Given the description of an element on the screen output the (x, y) to click on. 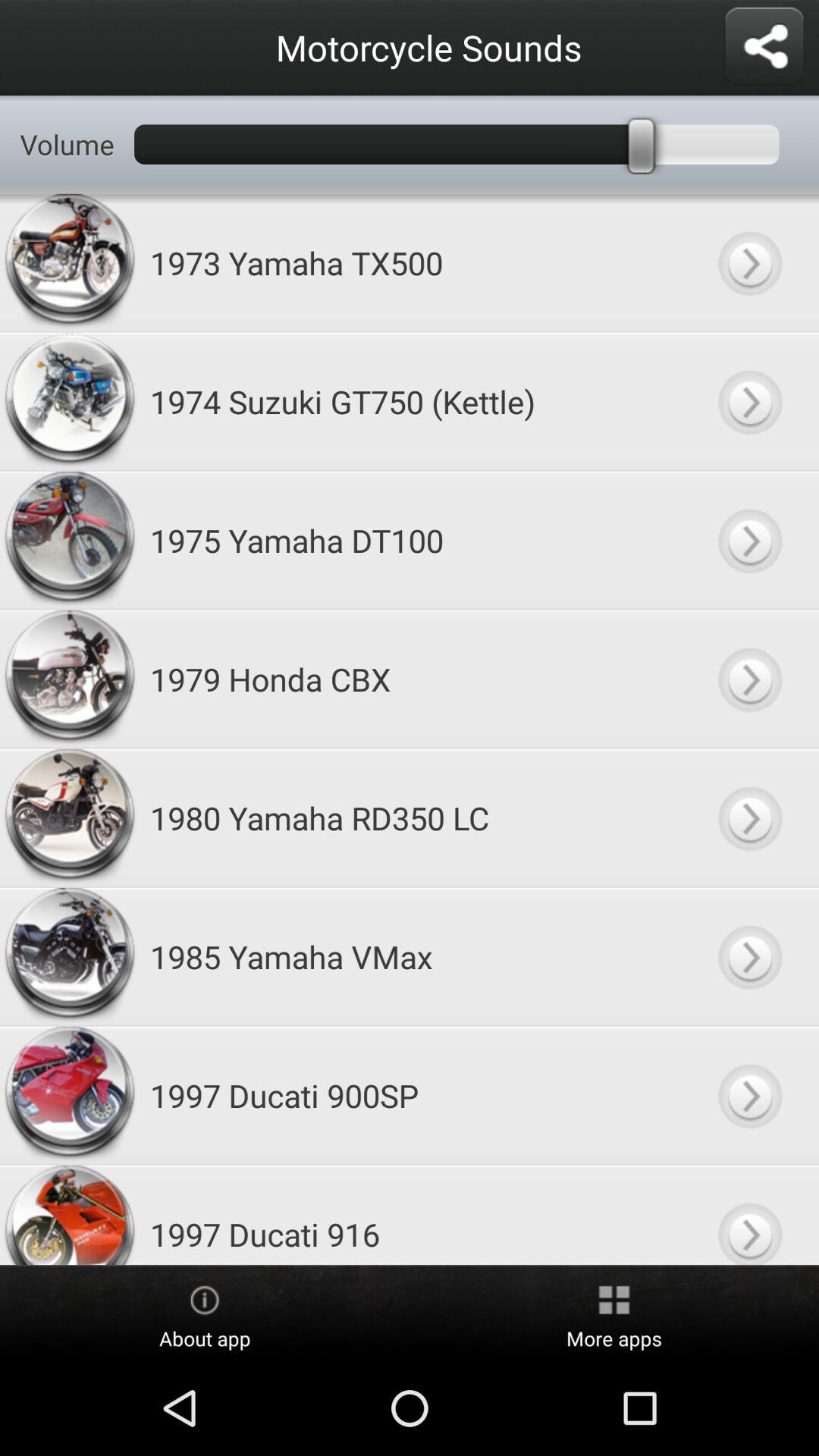
go to sound (749, 679)
